Given the description of an element on the screen output the (x, y) to click on. 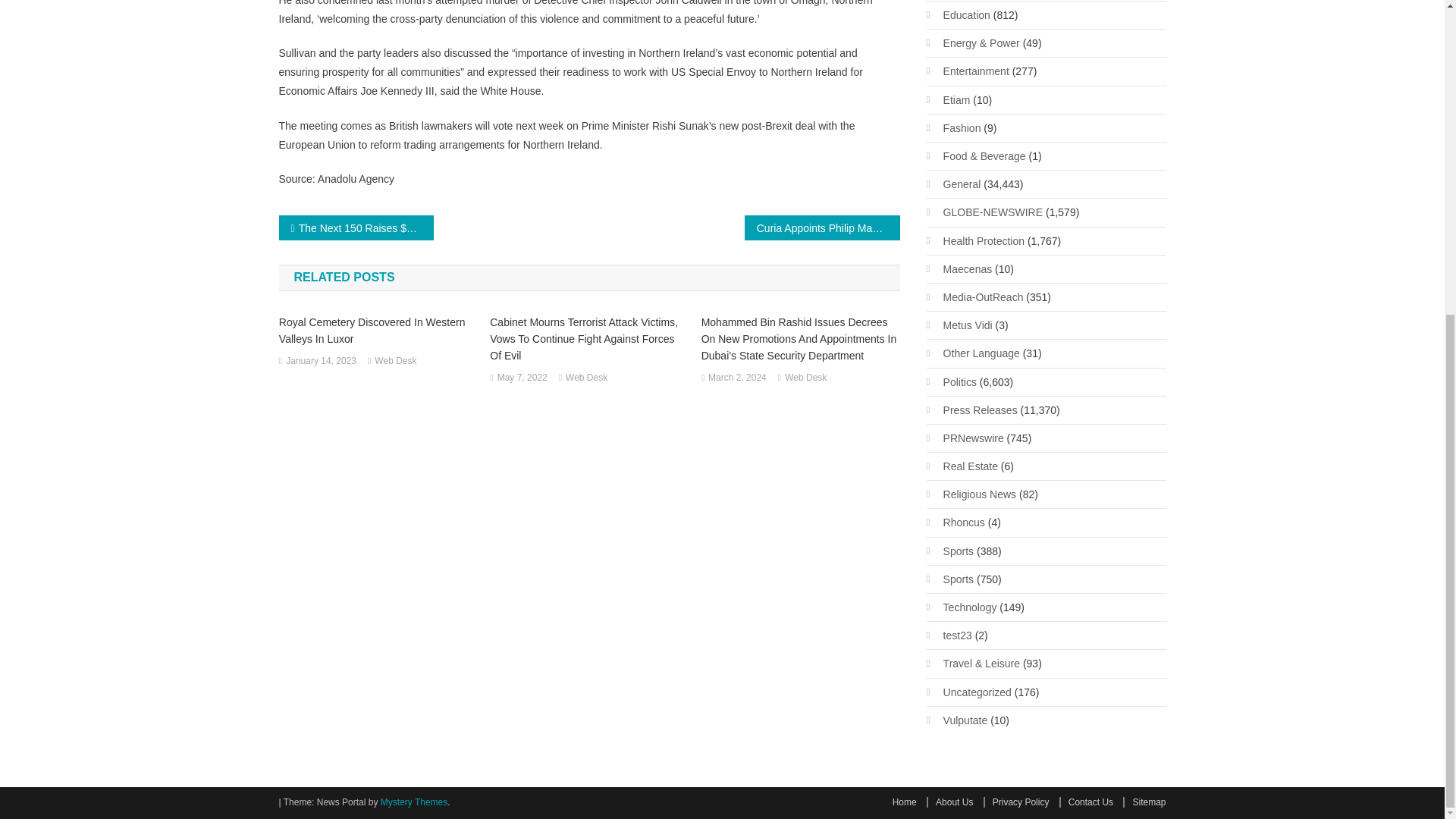
March 2, 2024 (737, 378)
January 14, 2023 (320, 361)
Web Desk (805, 378)
Royal Cemetery Discovered In Western Valleys In Luxor (378, 330)
Curia Appoints Philip Macnabb as Chief Executive Officer (821, 227)
Web Desk (586, 378)
May 7, 2022 (522, 378)
Web Desk (395, 361)
